Given the description of an element on the screen output the (x, y) to click on. 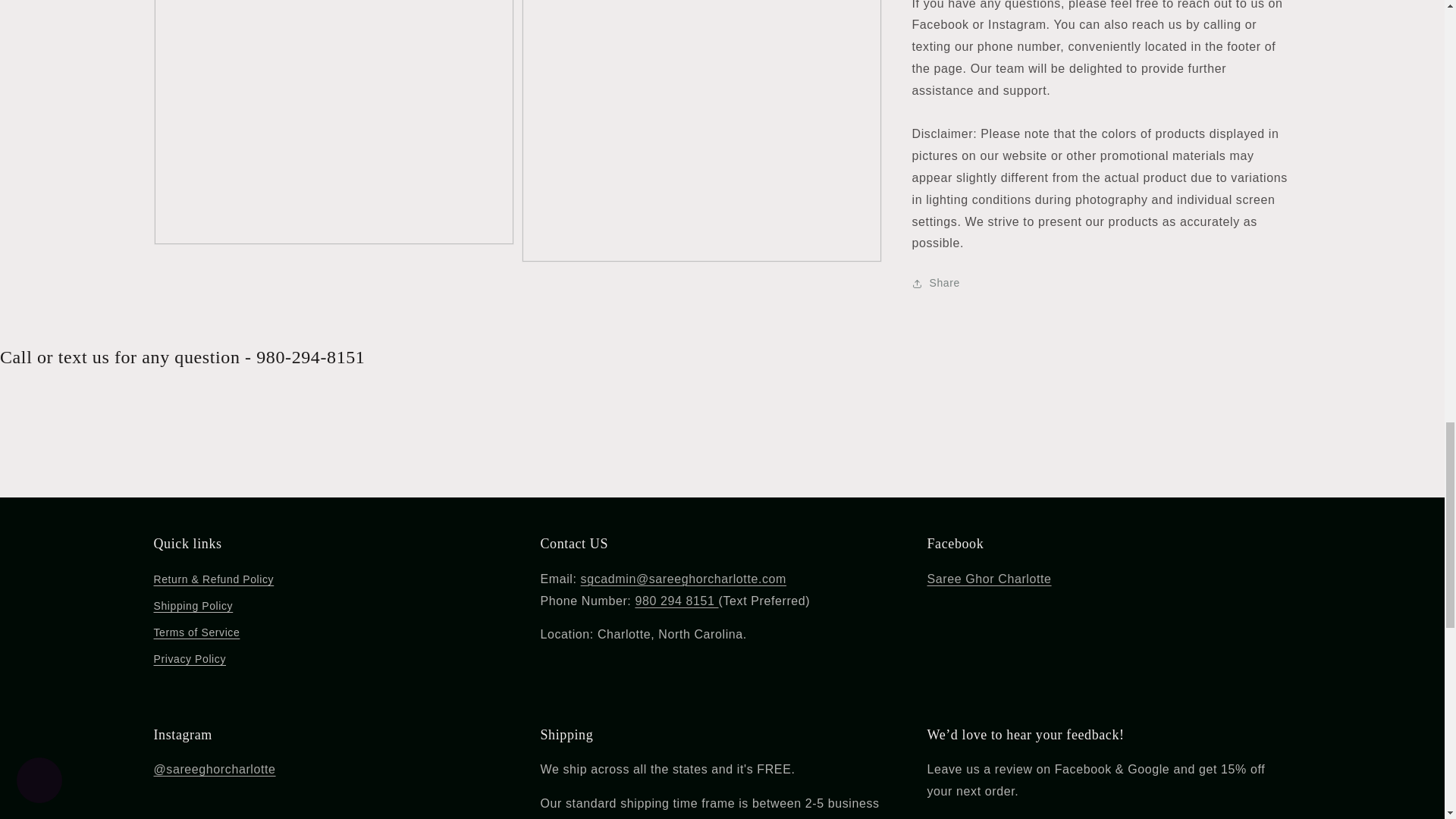
tel:9802948151 (675, 600)
